Given the description of an element on the screen output the (x, y) to click on. 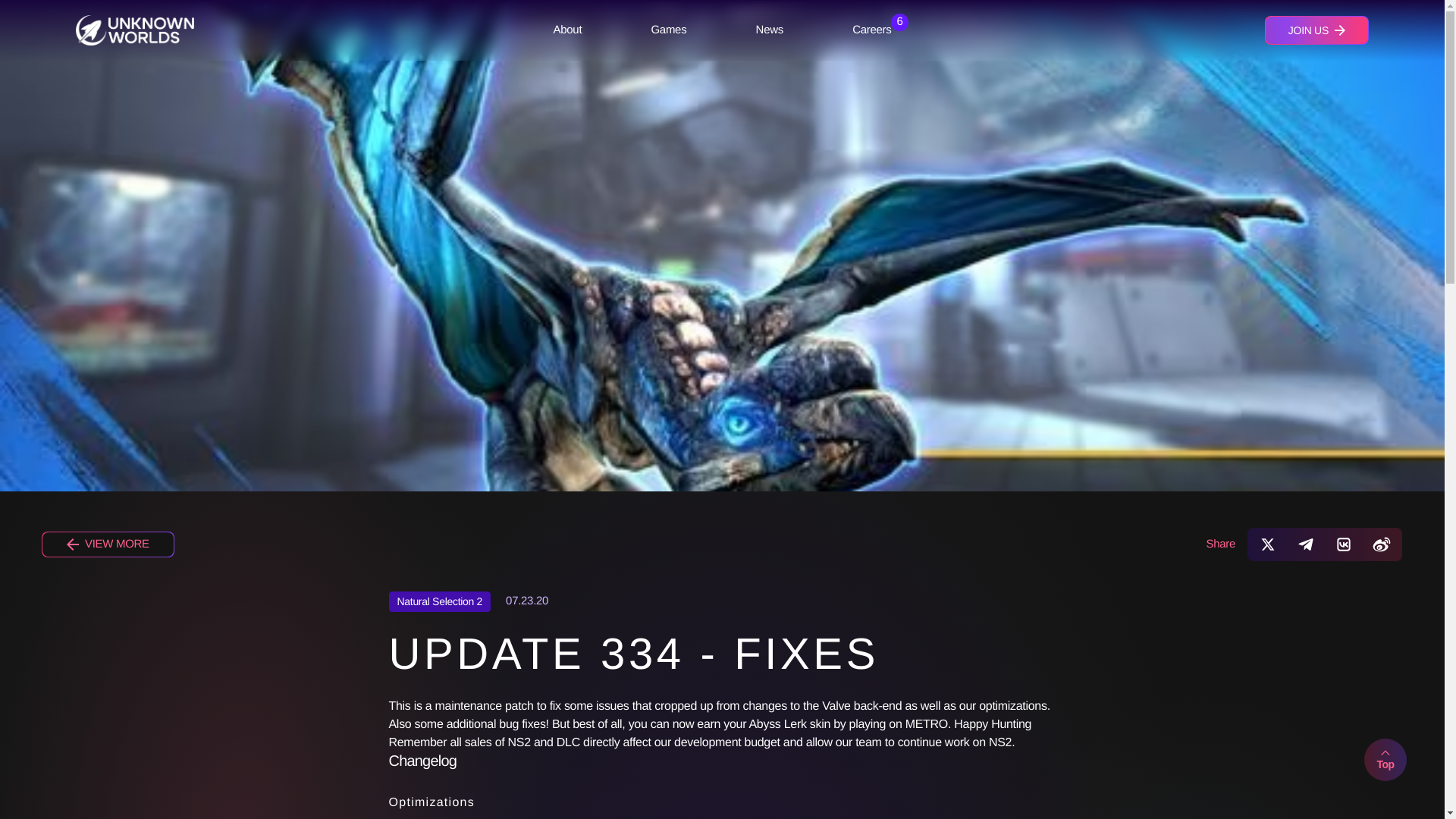
Games (669, 30)
VIEW MORE (107, 544)
X (1267, 544)
Top (1385, 759)
JOIN US (1316, 30)
News (769, 30)
VKontakte (1343, 544)
About (567, 30)
Weibo (1381, 544)
Natural Selection 2 (439, 601)
Telegram (1305, 544)
